Given the description of an element on the screen output the (x, y) to click on. 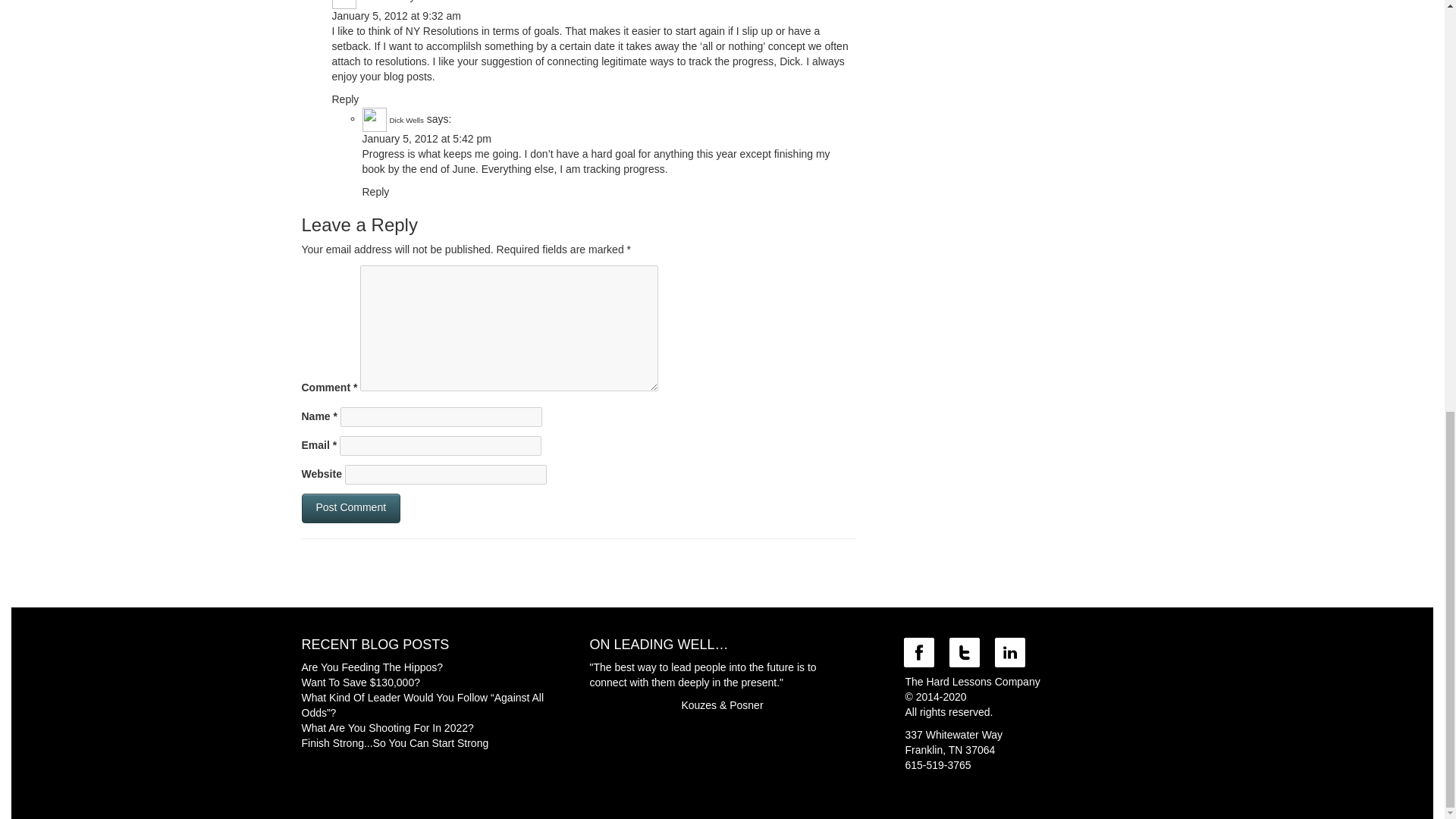
Matt Austin (376, 0)
Reply (376, 191)
Reply (345, 99)
Are You Feeding The Hippos? (372, 666)
Finish Strong...So You Can Start Strong (395, 743)
Post Comment (351, 508)
January 5, 2012 at 9:32 am (396, 15)
January 5, 2012 at 5:42 pm (427, 138)
Post Comment (351, 508)
Dick Wells (405, 119)
What Are You Shooting For In 2022? (387, 727)
